Given the description of an element on the screen output the (x, y) to click on. 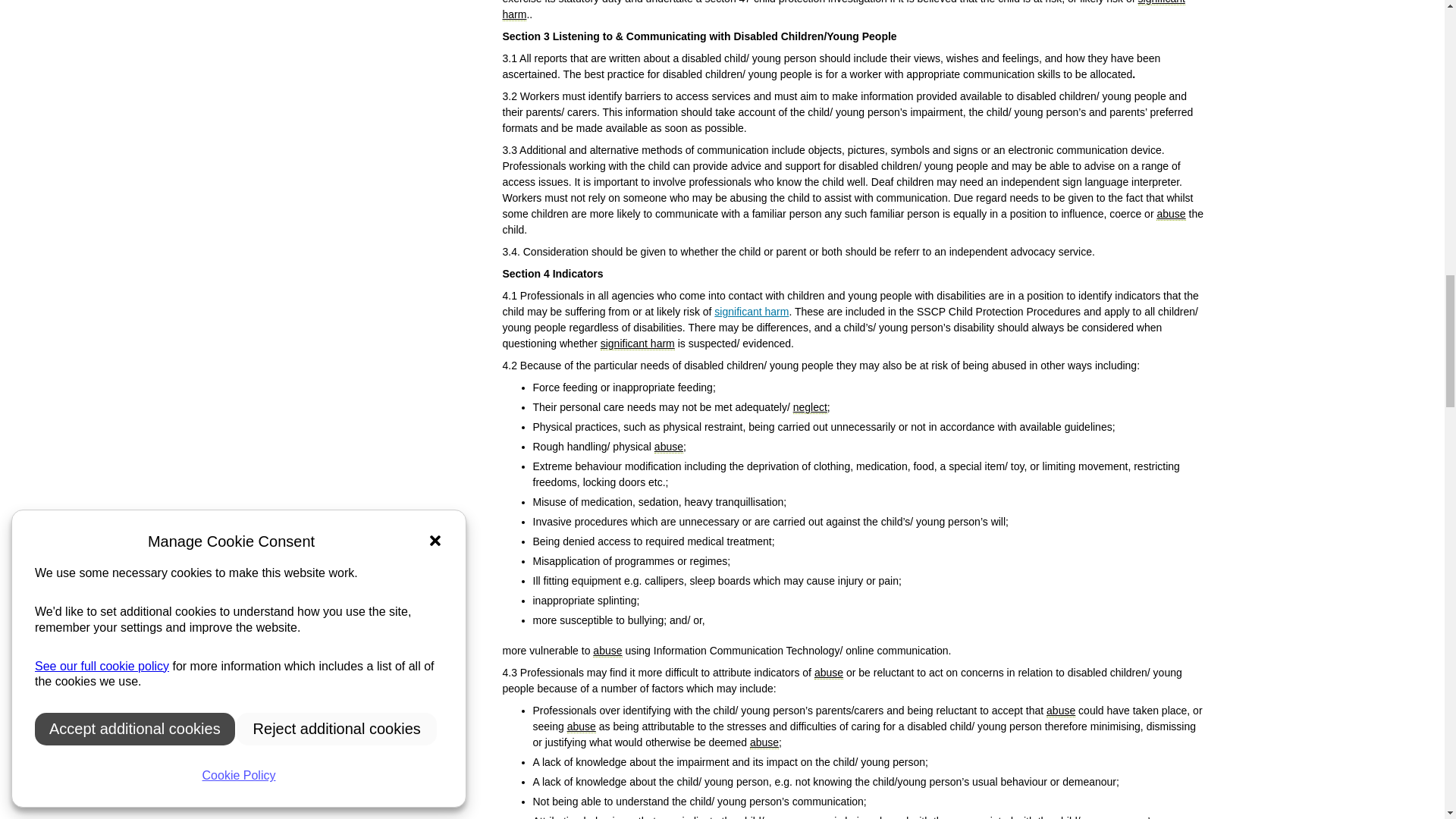
significant harm (843, 10)
abuse (1060, 710)
abuse (606, 650)
neglect (810, 407)
significant harm (751, 311)
abuse (828, 672)
abuse (1170, 214)
significant harm (637, 343)
abuse (667, 446)
abuse (763, 742)
abuse (581, 726)
